Given the description of an element on the screen output the (x, y) to click on. 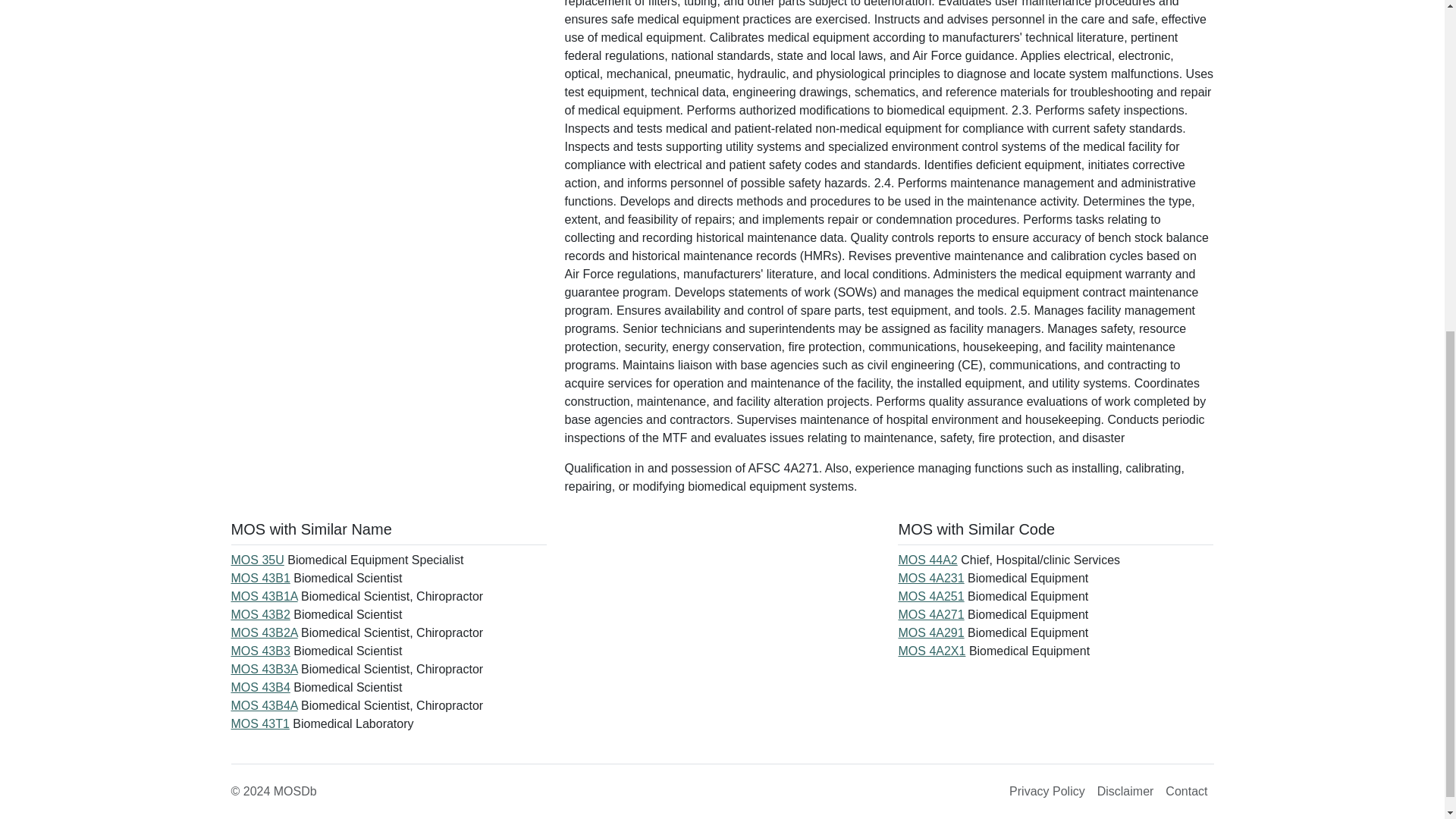
MOS 4A251 (930, 595)
MOS 44A2 (927, 559)
MOS 4A231 (930, 577)
MOS 43B1A (264, 595)
MOS 43B4 (260, 686)
MOS 43B3 (260, 650)
MOS 35U (257, 559)
Disclaimer (1125, 791)
MOS 4A291 (930, 632)
MOS 43B4A (264, 705)
